Given the description of an element on the screen output the (x, y) to click on. 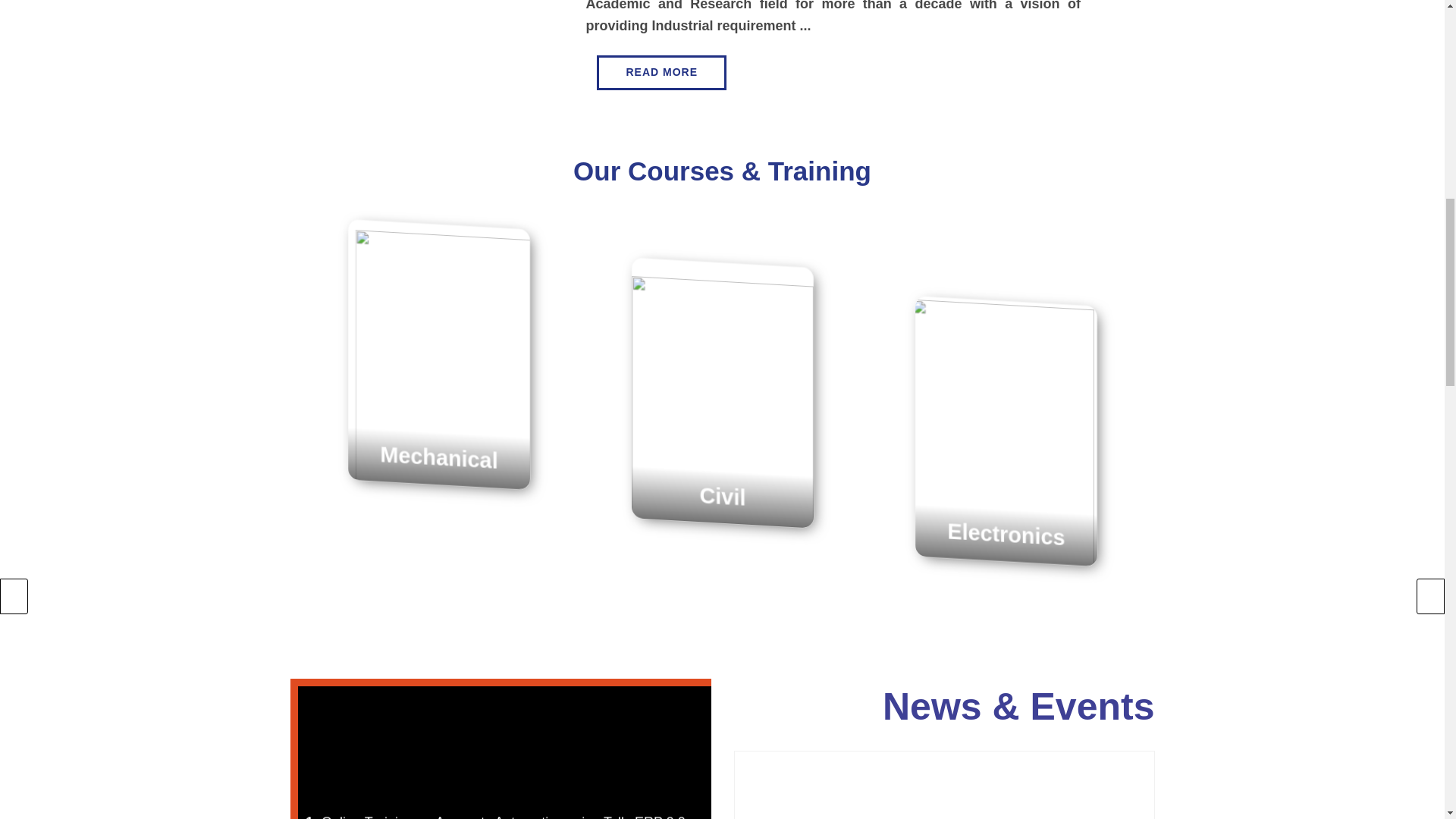
Mechanical (441, 454)
Civil (726, 513)
READ MORE (661, 72)
Electronics (1010, 552)
